Given the description of an element on the screen output the (x, y) to click on. 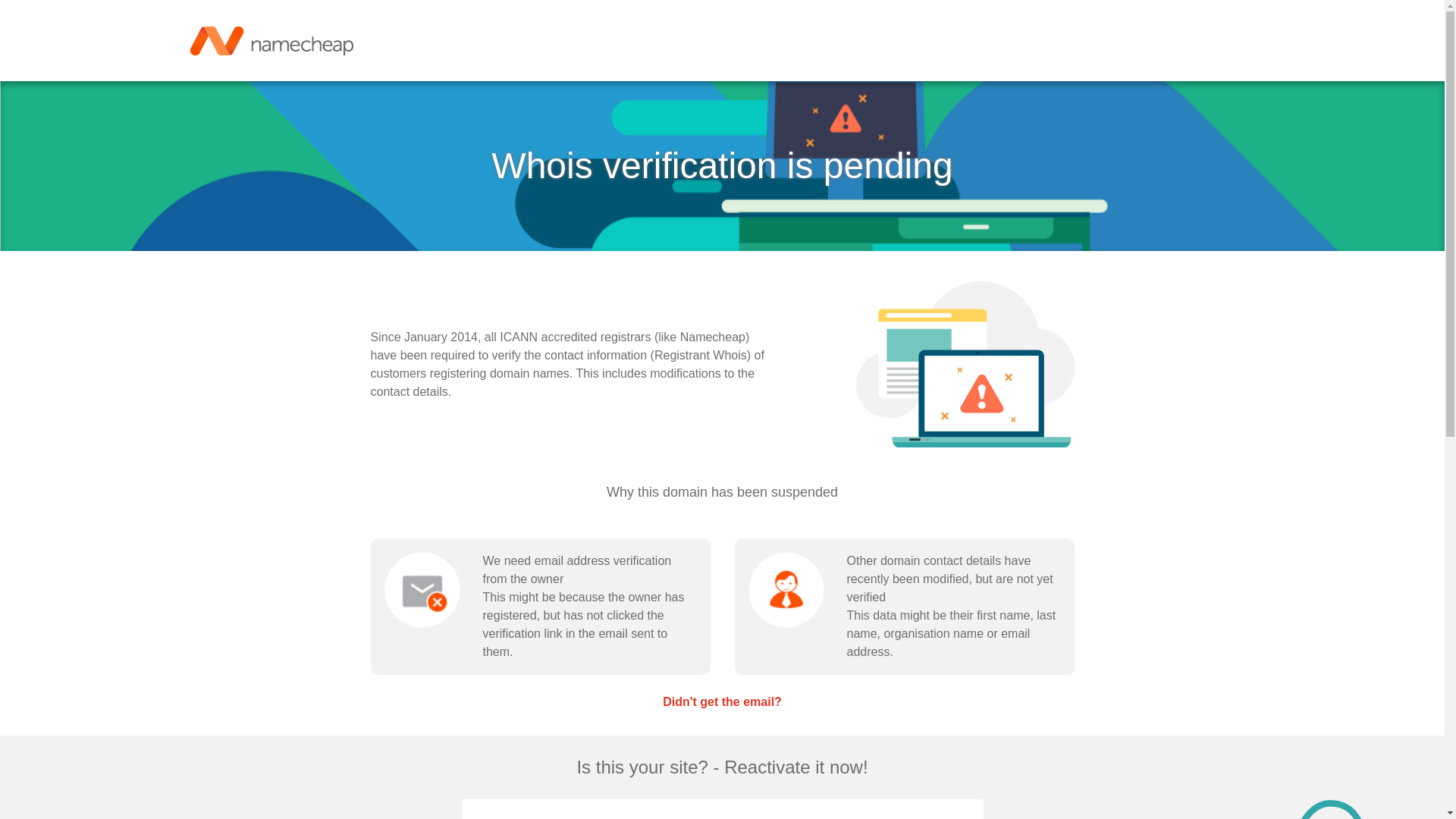
Didn't get the email? (721, 701)
